Given the description of an element on the screen output the (x, y) to click on. 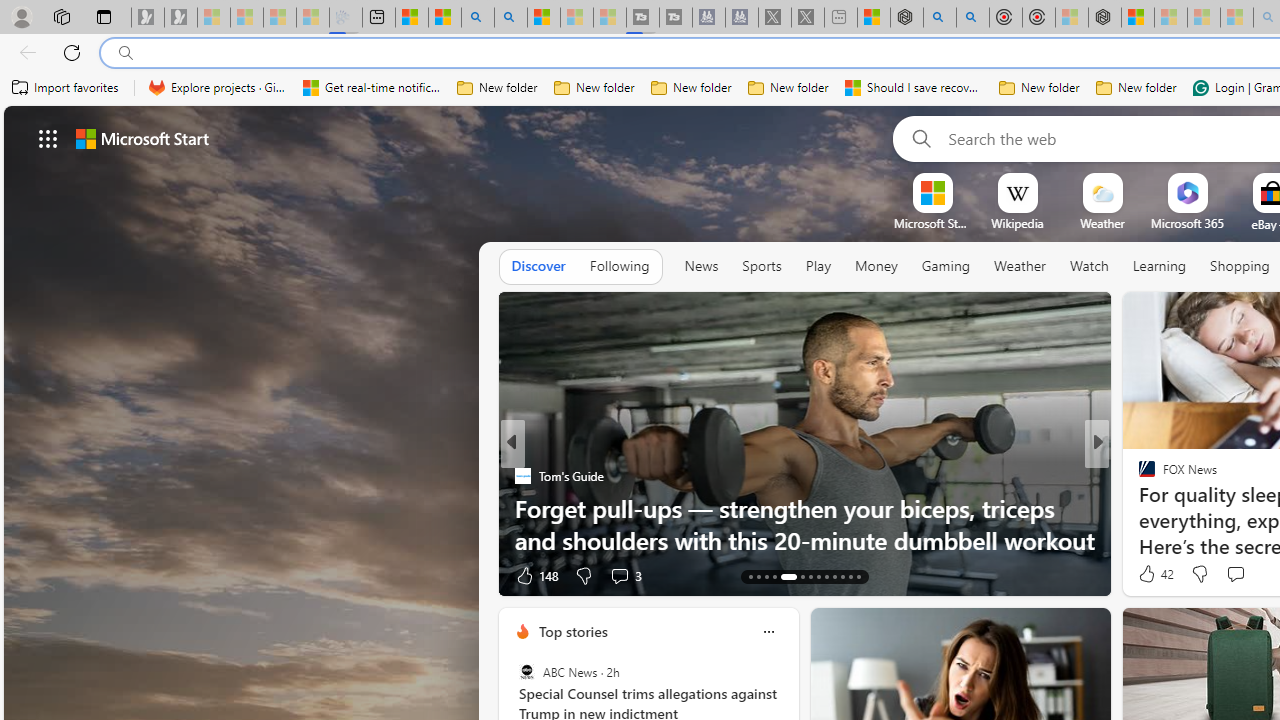
Play (817, 265)
Newsletter Sign Up - Sleeping (181, 17)
View comments 3 Comment (619, 575)
Learning (1159, 267)
AutomationID: tab-13 (750, 576)
View comments 8 Comment (1234, 574)
79 Like (1149, 574)
